Given the description of an element on the screen output the (x, y) to click on. 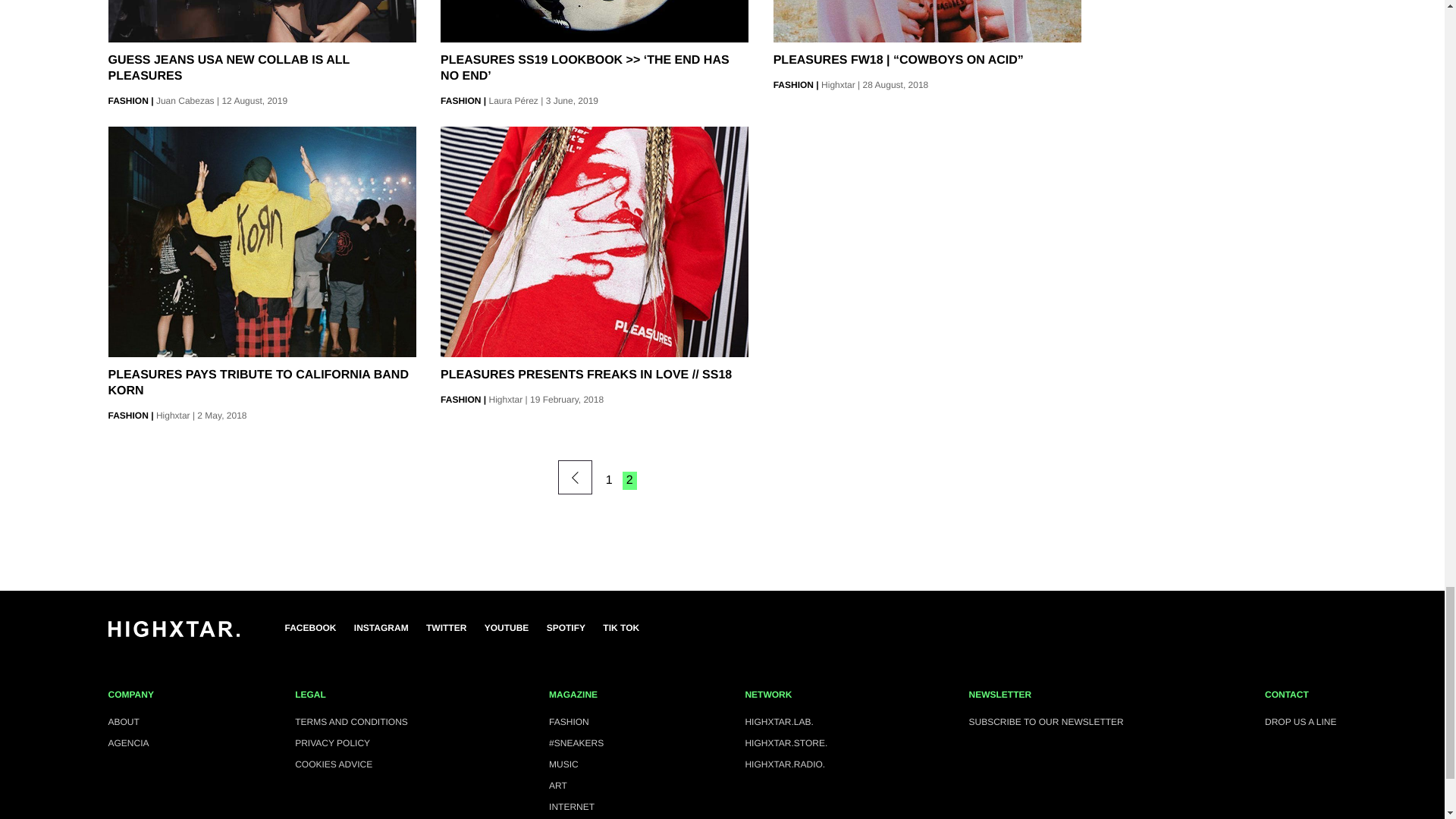
Instagram (381, 627)
Facebook (310, 627)
Enlace a Inicio (172, 633)
Twitter (446, 627)
Spotify (565, 627)
YouTube (507, 627)
About (129, 721)
Agencia (129, 743)
Tik Tok (620, 627)
